Given the description of an element on the screen output the (x, y) to click on. 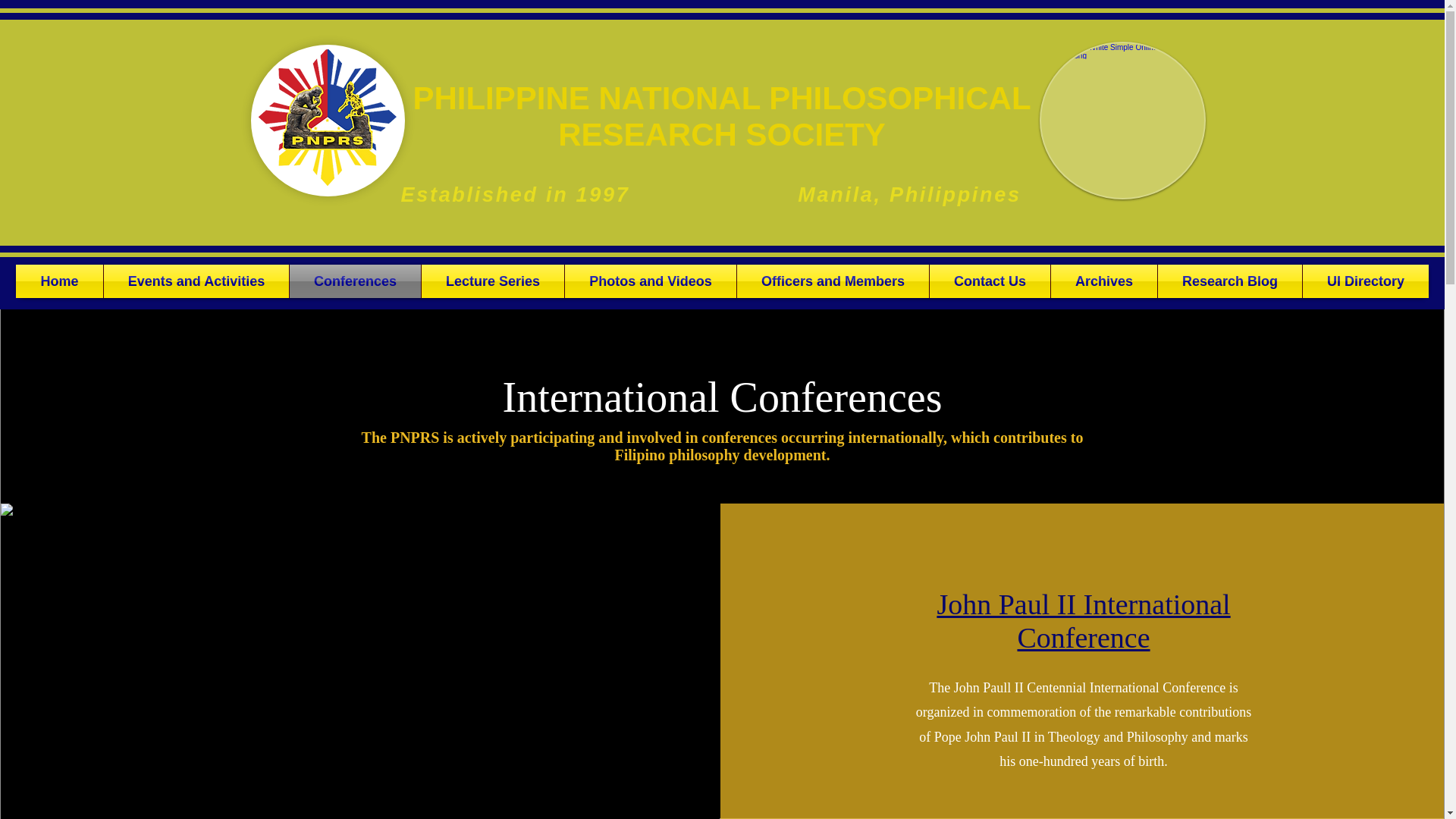
UI Directory (1365, 281)
Conferences (354, 281)
Archives (1104, 281)
Events and Activities (195, 281)
John Paul II International Conference (1083, 620)
Contact Us (989, 281)
Officers and Members (832, 281)
Home (59, 281)
Manila, Philippines (908, 194)
Established in 1997 (515, 194)
